Given the description of an element on the screen output the (x, y) to click on. 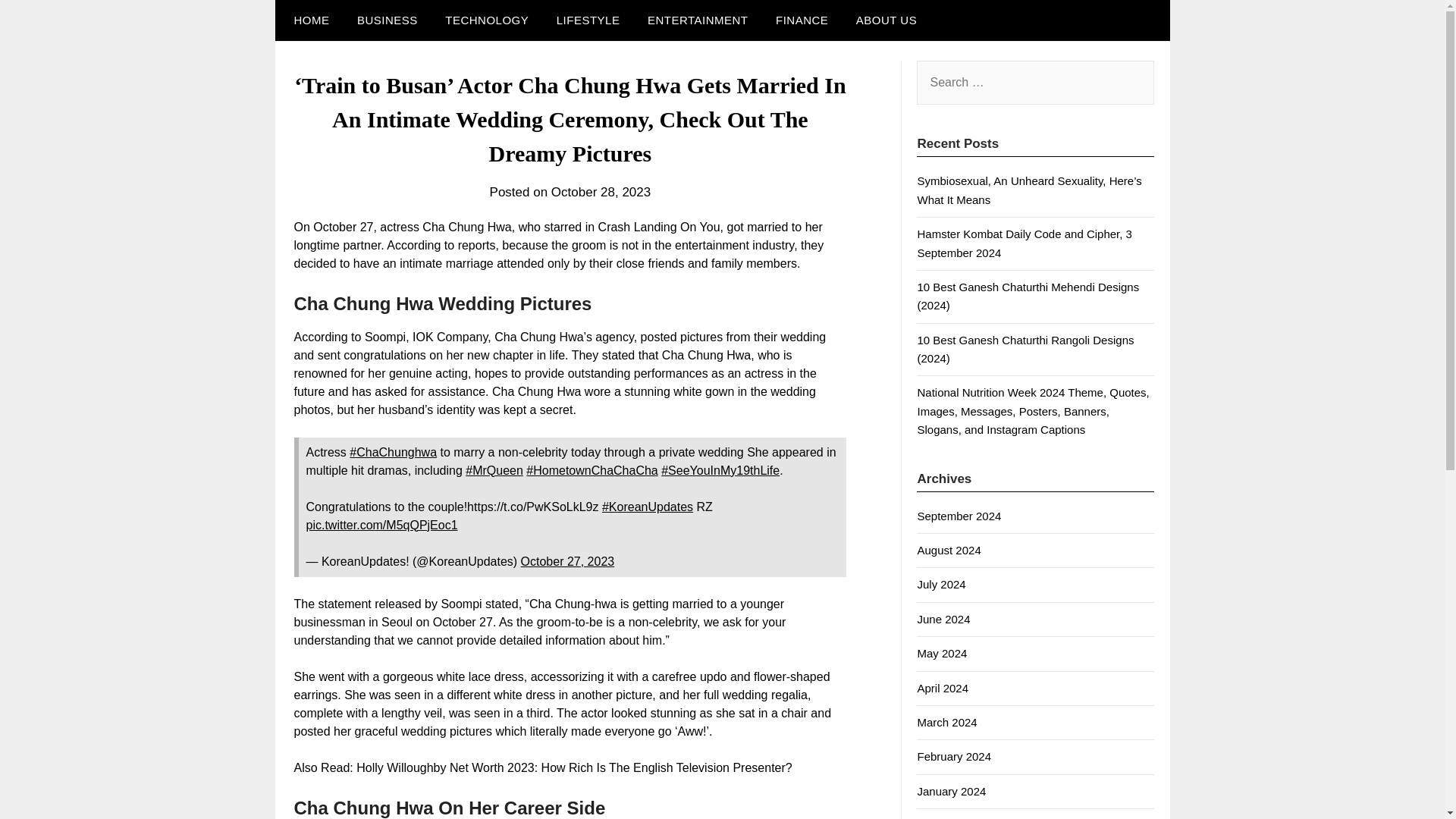
August 2024 (948, 549)
April 2024 (942, 687)
May 2024 (941, 653)
July 2024 (941, 584)
HOME (307, 20)
September 2024 (959, 515)
FINANCE (801, 20)
March 2024 (946, 721)
February 2024 (954, 756)
